Given the description of an element on the screen output the (x, y) to click on. 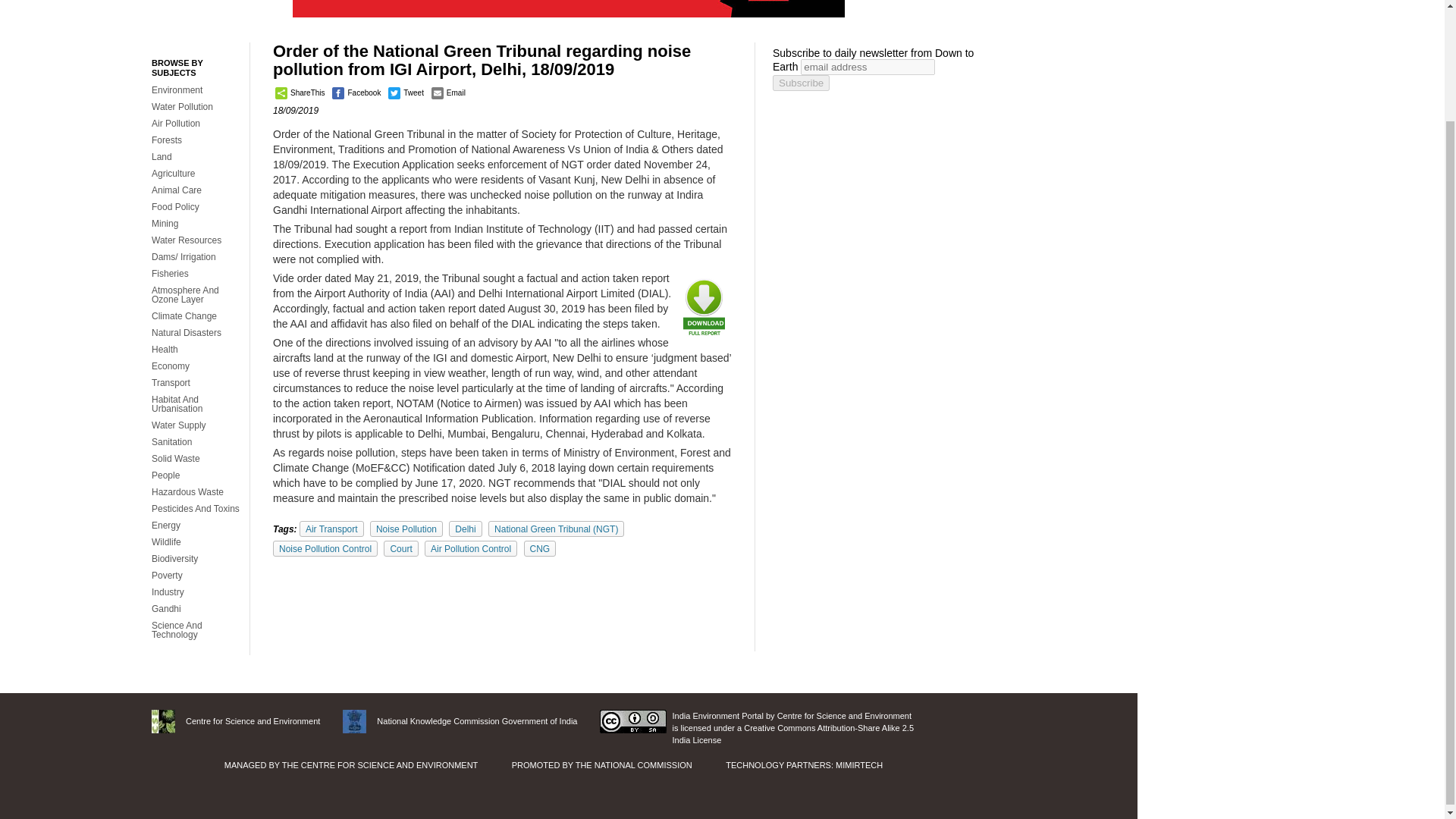
Subscribe (801, 82)
